Given the description of an element on the screen output the (x, y) to click on. 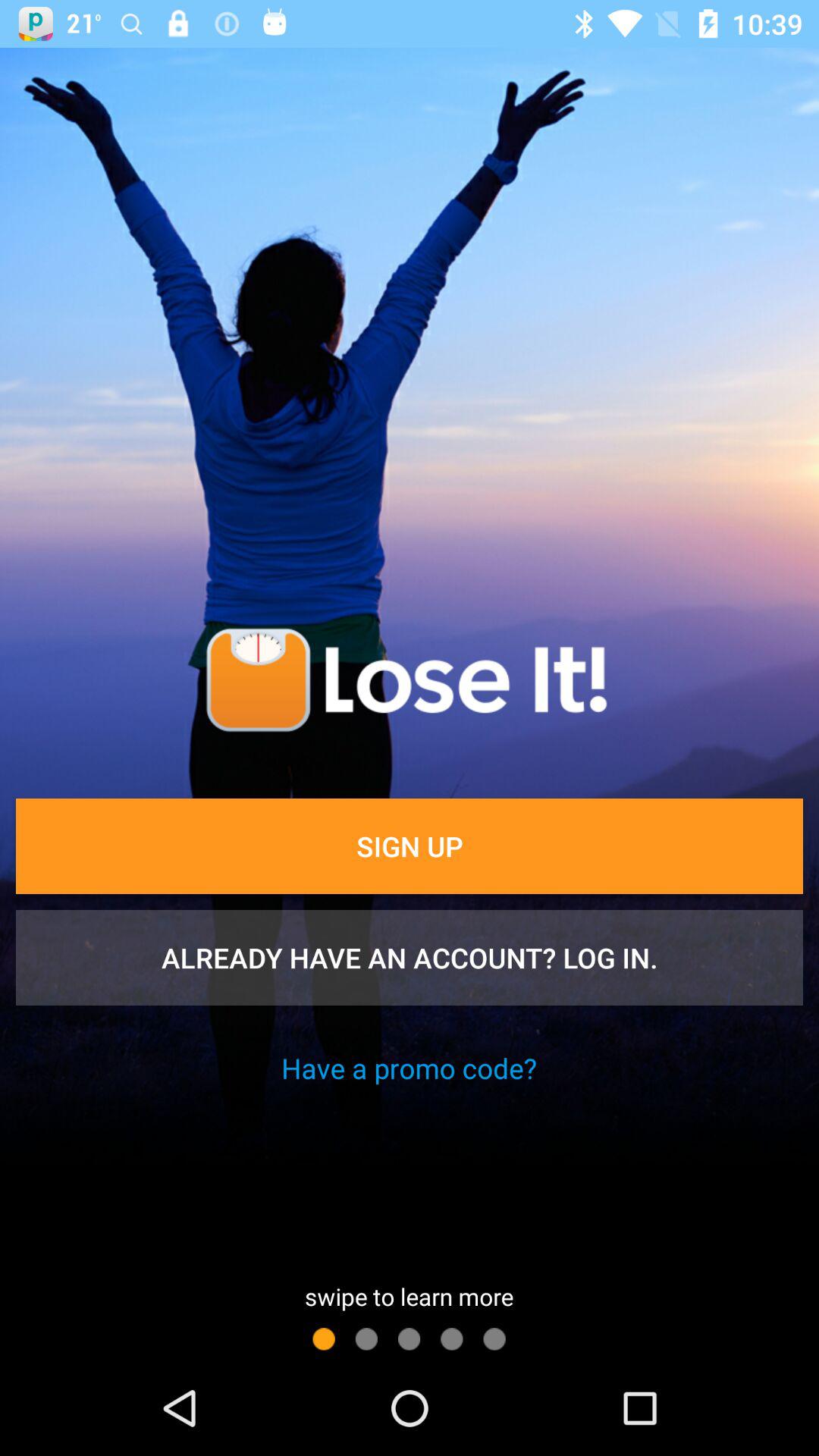
scroll to sign up (409, 846)
